Given the description of an element on the screen output the (x, y) to click on. 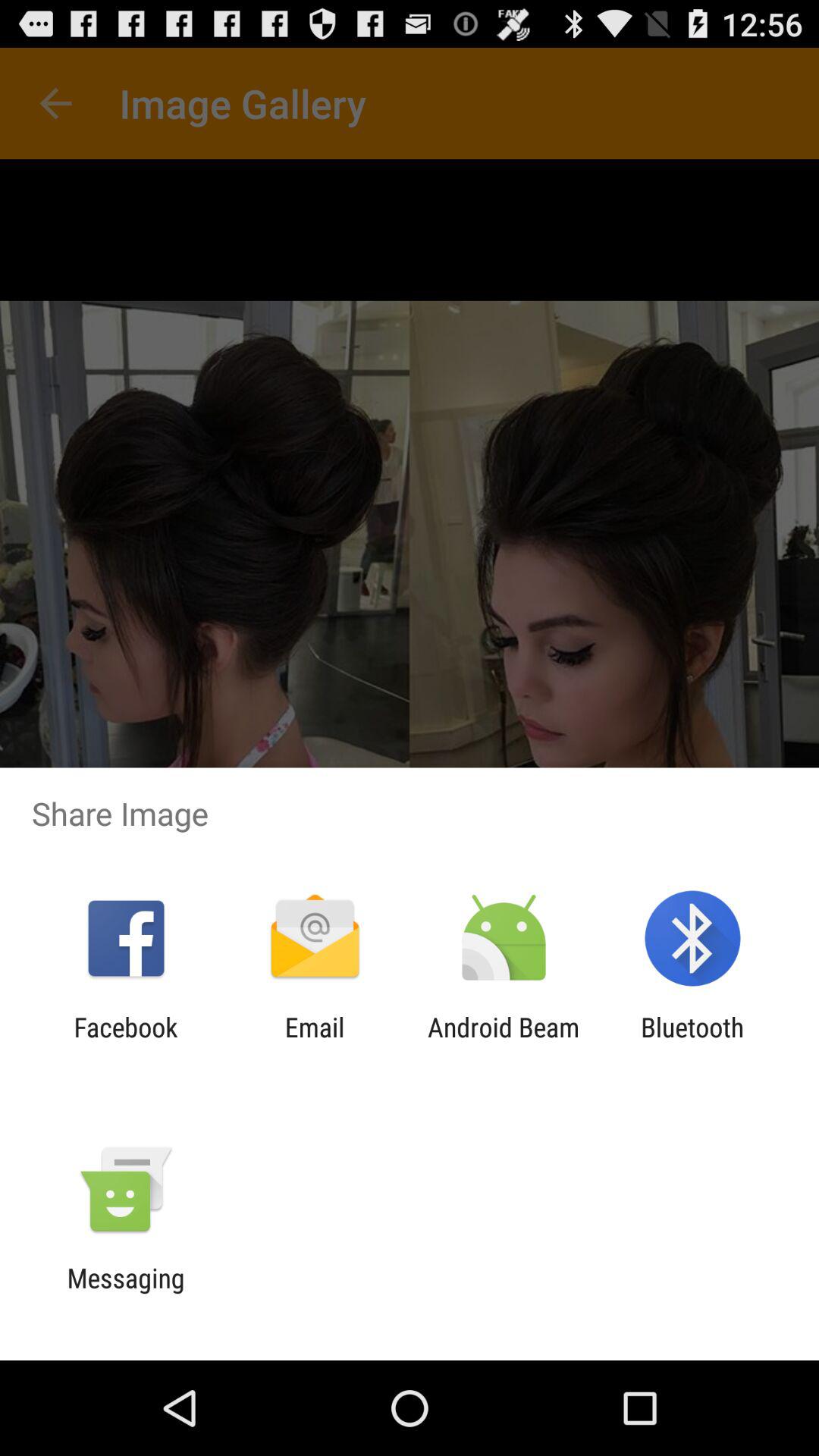
turn on the android beam app (503, 1042)
